Given the description of an element on the screen output the (x, y) to click on. 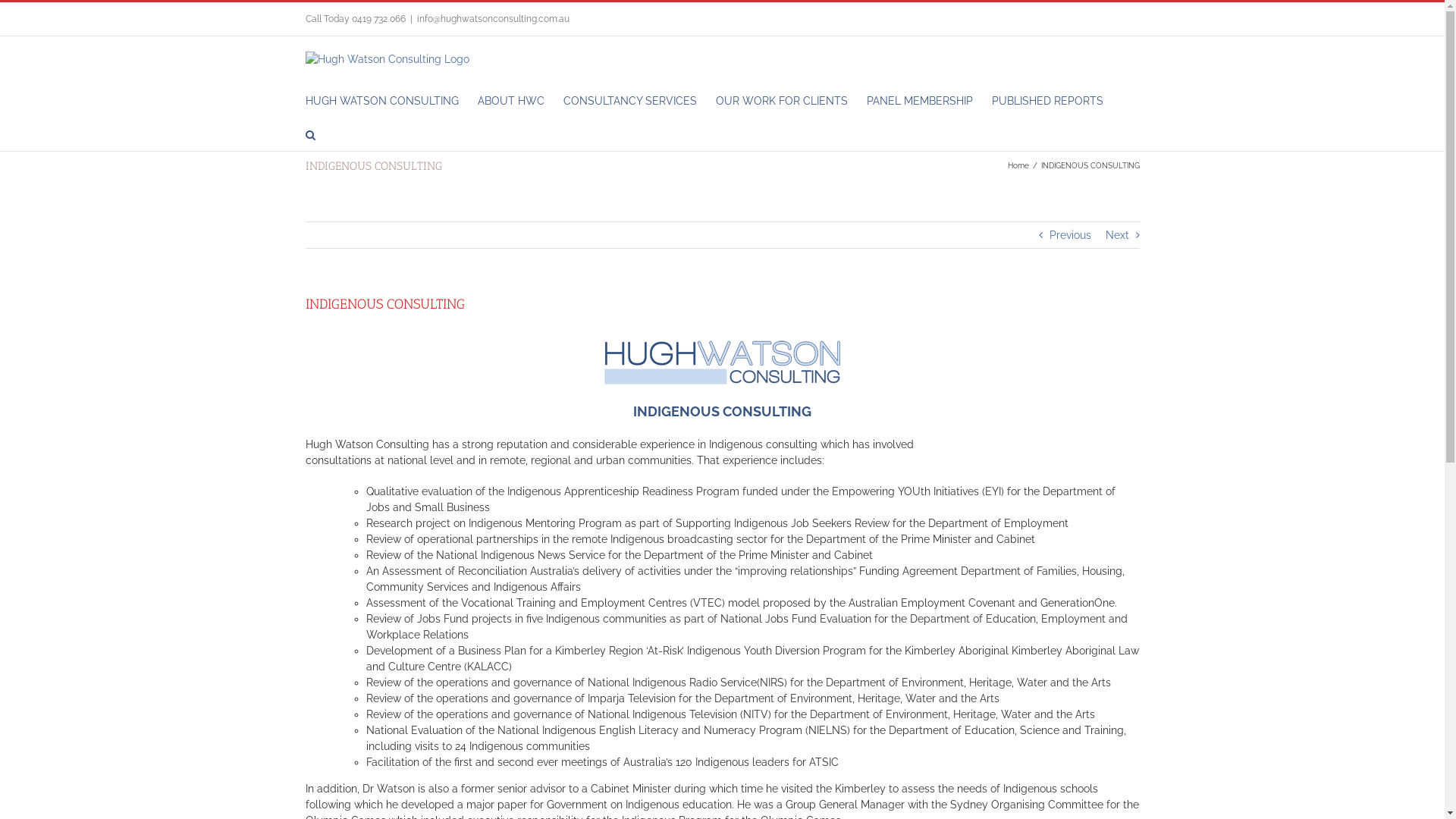
CONSULTANCY SERVICES Element type: text (629, 99)
PUBLISHED REPORTS Element type: text (1047, 99)
Next Element type: text (1117, 234)
OUR WORK FOR CLIENTS Element type: text (781, 99)
Home Element type: text (1017, 165)
ABOUT HWC Element type: text (510, 99)
HUGH WATSON CONSULTING Element type: text (381, 99)
info@hughwatsonconsulting.com.au Element type: text (493, 18)
Previous Element type: text (1070, 234)
Search Element type: hover (309, 133)
PANEL MEMBERSHIP Element type: text (919, 99)
